Given the description of an element on the screen output the (x, y) to click on. 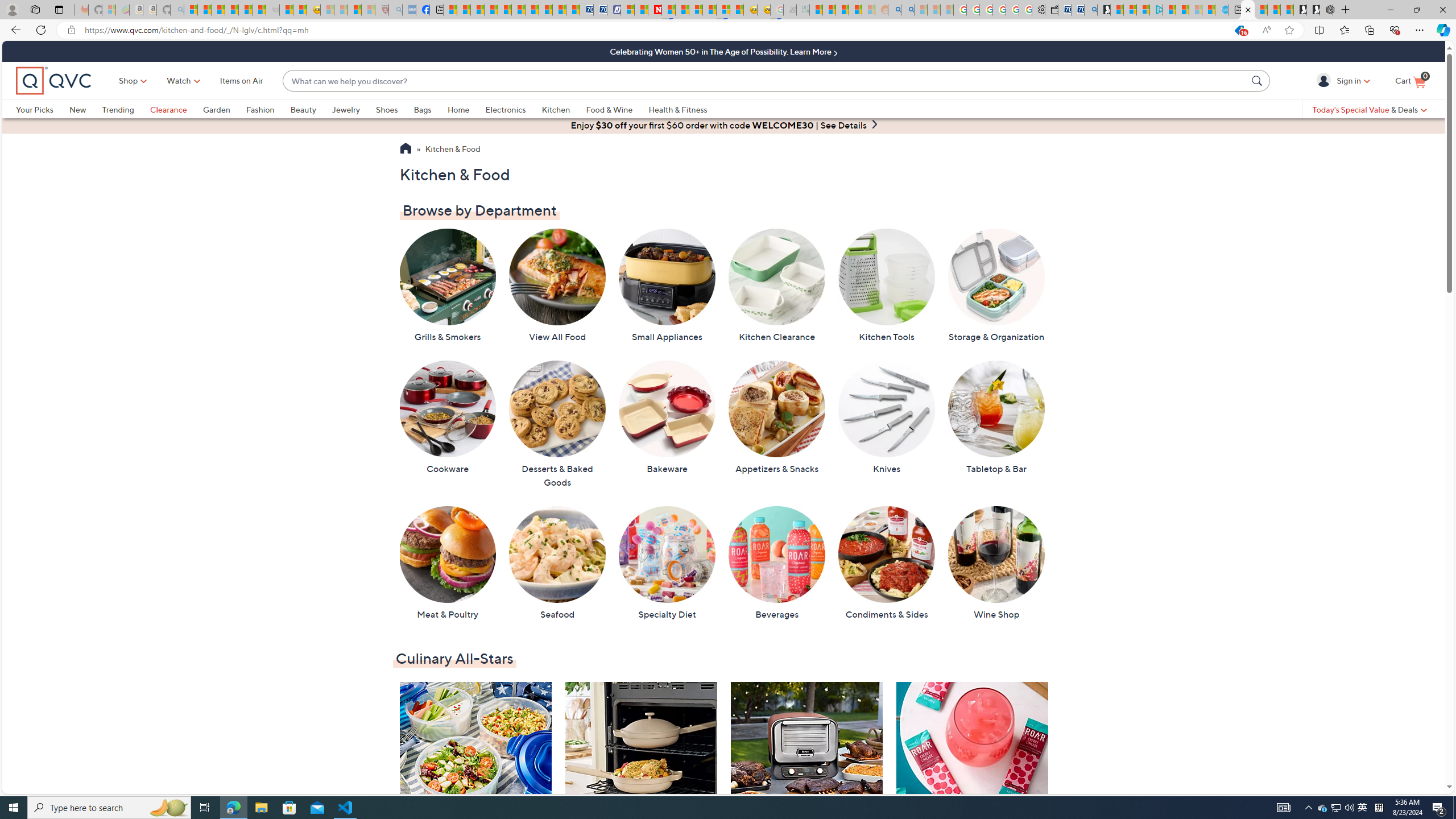
New (76, 109)
Garden (224, 109)
Cart is Empty  (1409, 81)
Kitchen (563, 109)
Storage & Organization (996, 285)
Bakeware (666, 417)
Health & Fitness (680, 109)
Beauty (310, 109)
Shoes (394, 109)
